Given the description of an element on the screen output the (x, y) to click on. 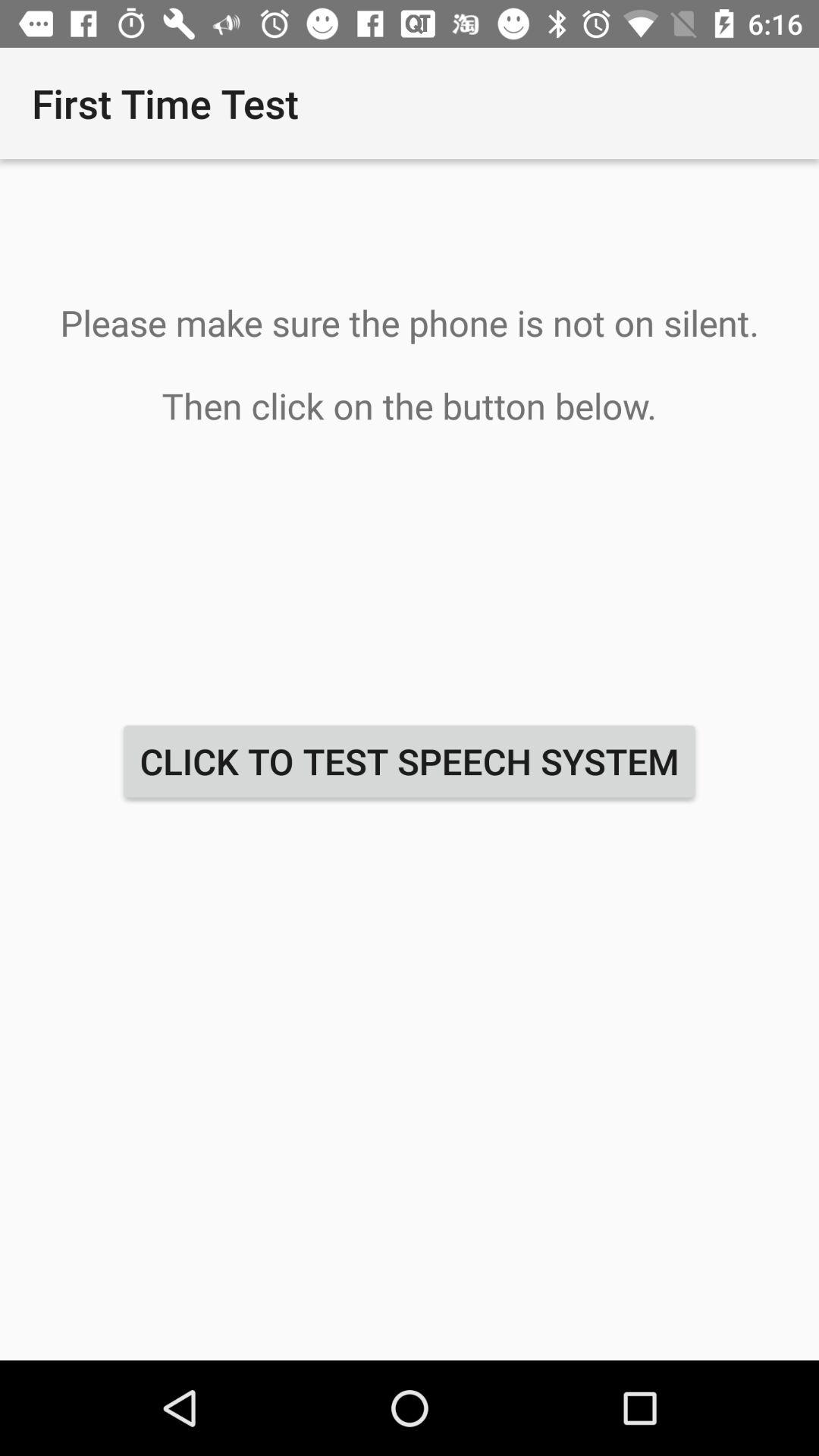
turn on the click to test (409, 761)
